Given the description of an element on the screen output the (x, y) to click on. 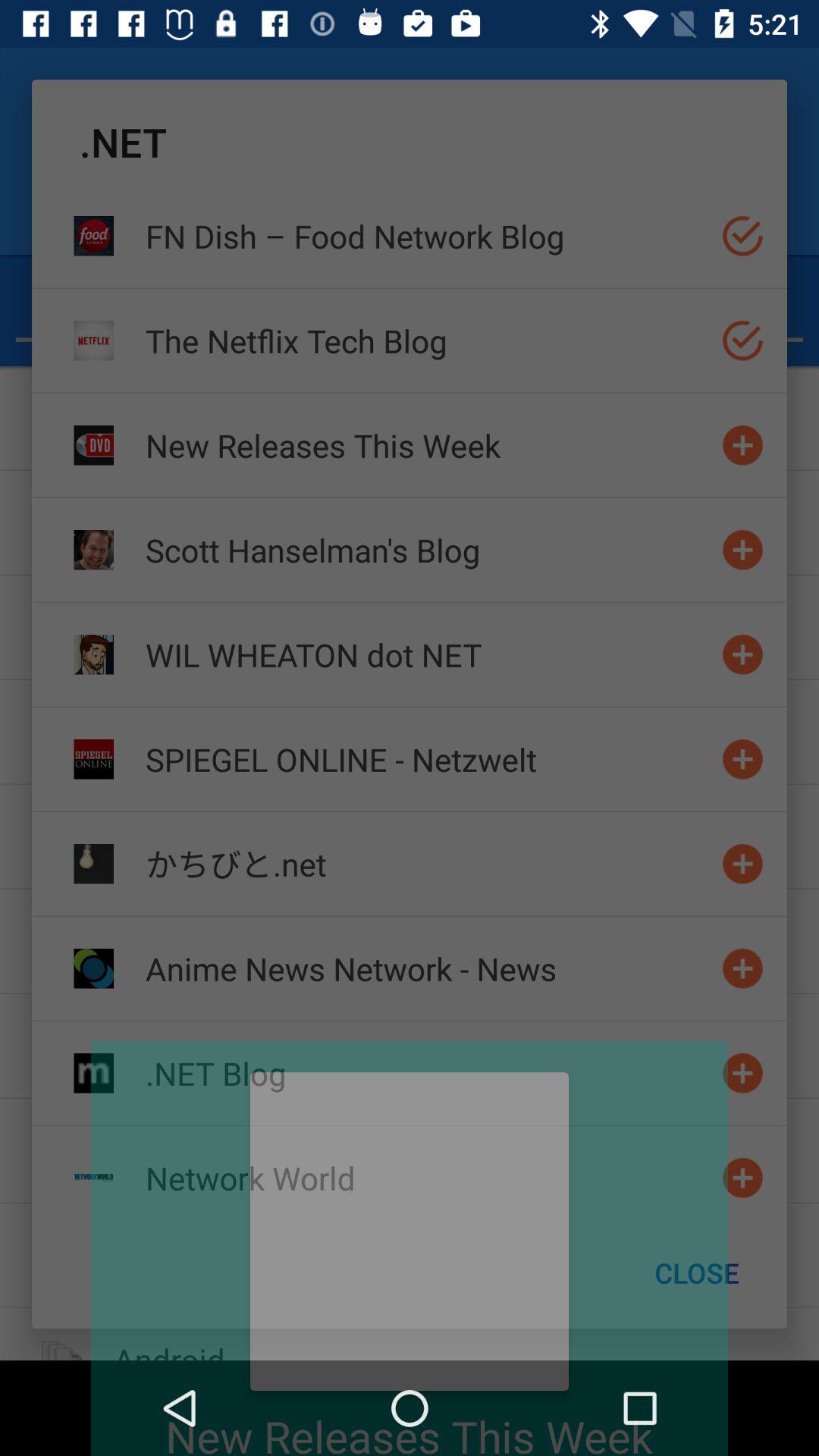
favorite the website (742, 968)
